Given the description of an element on the screen output the (x, y) to click on. 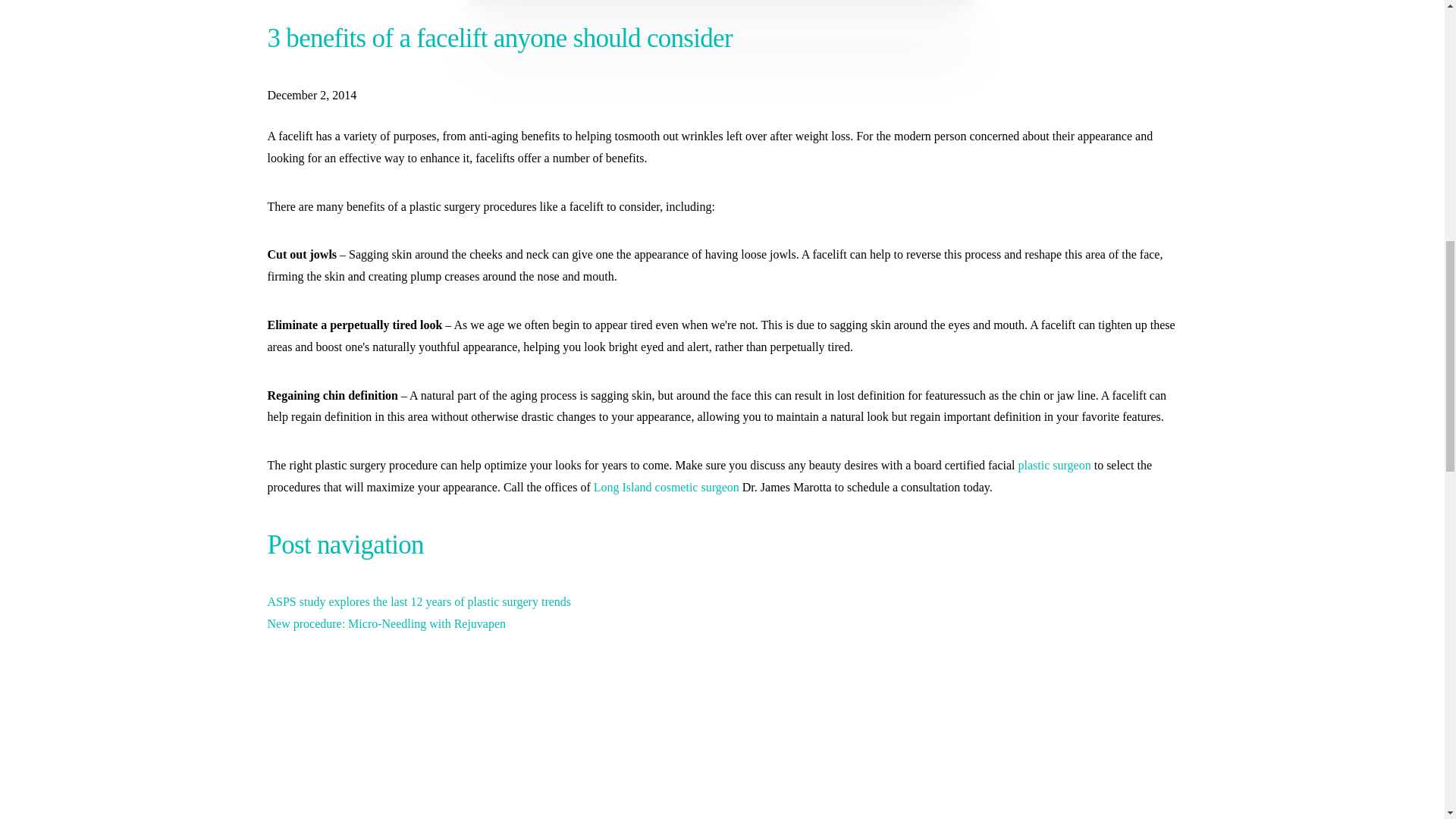
Permalink to 3 benefits of a facelift anyone should consider (311, 96)
